Given the description of an element on the screen output the (x, y) to click on. 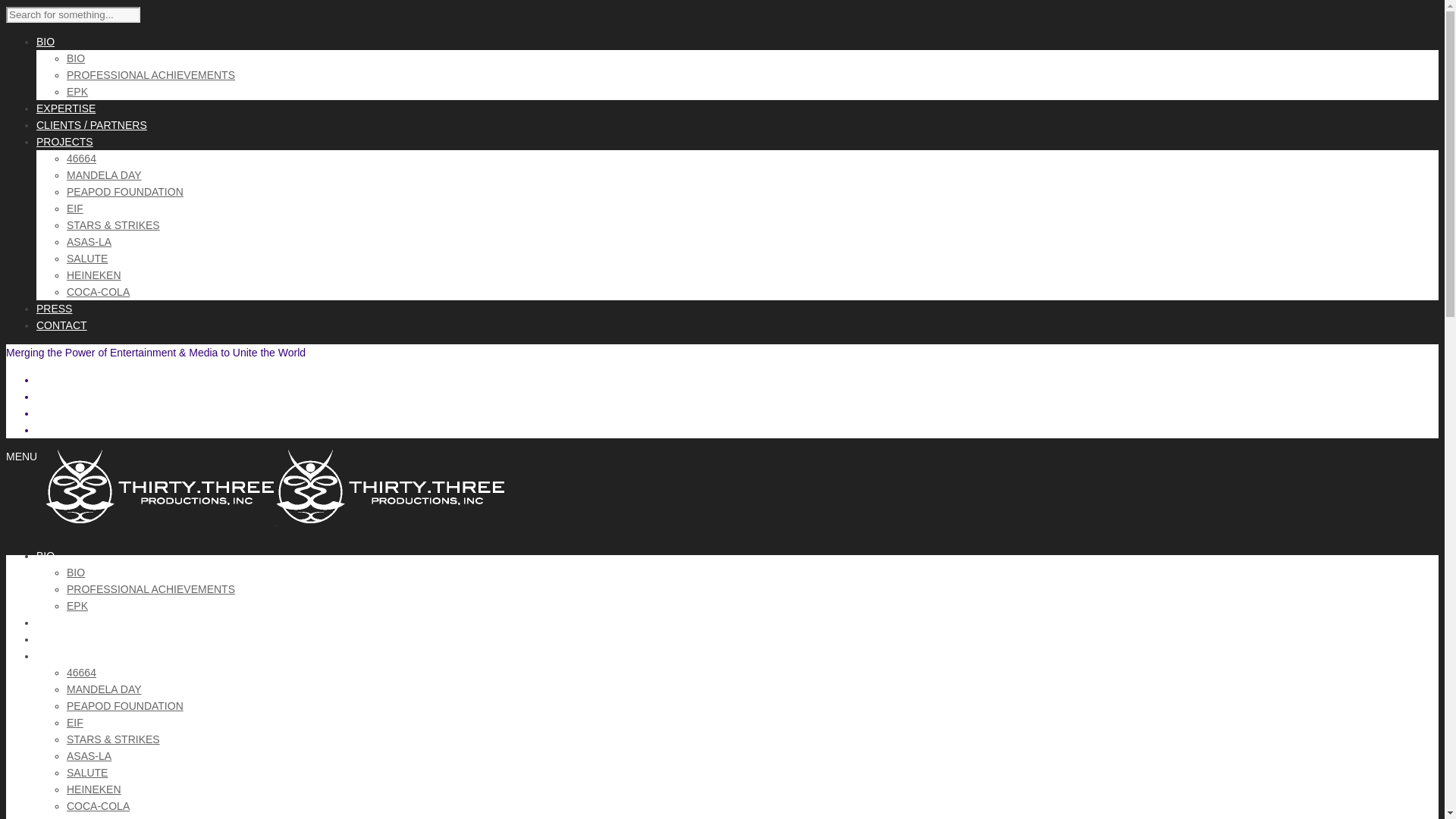
CONTACT Element type: text (61, 325)
COCA-COLA Element type: text (97, 291)
HEINEKEN Element type: text (93, 789)
EXPERTISE Element type: text (65, 622)
PROFESSIONAL ACHIEVEMENTS Element type: text (150, 75)
SALUTE Element type: text (86, 772)
46664 Element type: text (81, 672)
STARS & STRIKES Element type: text (113, 225)
BIO Element type: text (75, 58)
PROJECTS Element type: text (64, 141)
EPK Element type: text (76, 605)
PEAPOD FOUNDATION Element type: text (124, 705)
MANDELA DAY Element type: text (103, 175)
BIO Element type: text (45, 41)
EIF Element type: text (74, 208)
MANDELA DAY Element type: text (103, 689)
ASAS-LA Element type: text (88, 755)
SALUTE Element type: text (86, 258)
ASAS-LA Element type: text (88, 241)
COCA-COLA Element type: text (97, 806)
EXPERTISE Element type: text (65, 108)
PROJECTS Element type: text (64, 655)
CLIENTS / PARTNERS Element type: text (91, 639)
46664 Element type: text (81, 158)
PEAPOD FOUNDATION Element type: text (124, 191)
EPK Element type: text (76, 91)
PRESS Element type: text (54, 308)
BIO Element type: text (45, 555)
HEINEKEN Element type: text (93, 275)
EIF Element type: text (74, 722)
BIO Element type: text (75, 572)
CLIENTS / PARTNERS Element type: text (91, 125)
STARS & STRIKES Element type: text (113, 739)
PROFESSIONAL ACHIEVEMENTS Element type: text (150, 589)
